Given the description of an element on the screen output the (x, y) to click on. 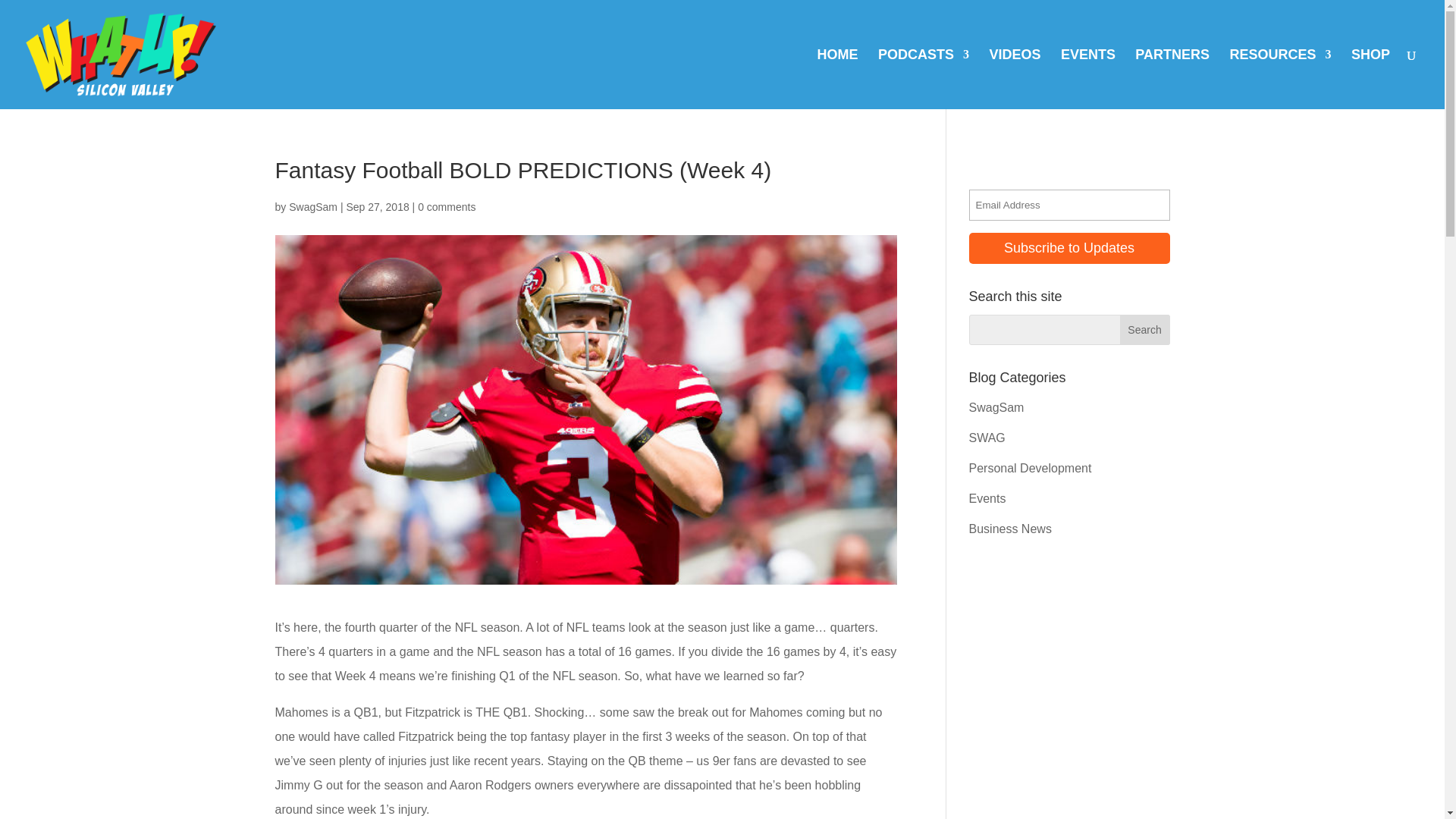
PODCASTS (923, 78)
SwagSam (312, 206)
RESOURCES (1281, 78)
PARTNERS (1172, 78)
Subscribe to Updates (1069, 247)
Posts by SwagSam (312, 206)
EVENTS (1088, 78)
Search (1144, 329)
0 comments (446, 206)
